Given the description of an element on the screen output the (x, y) to click on. 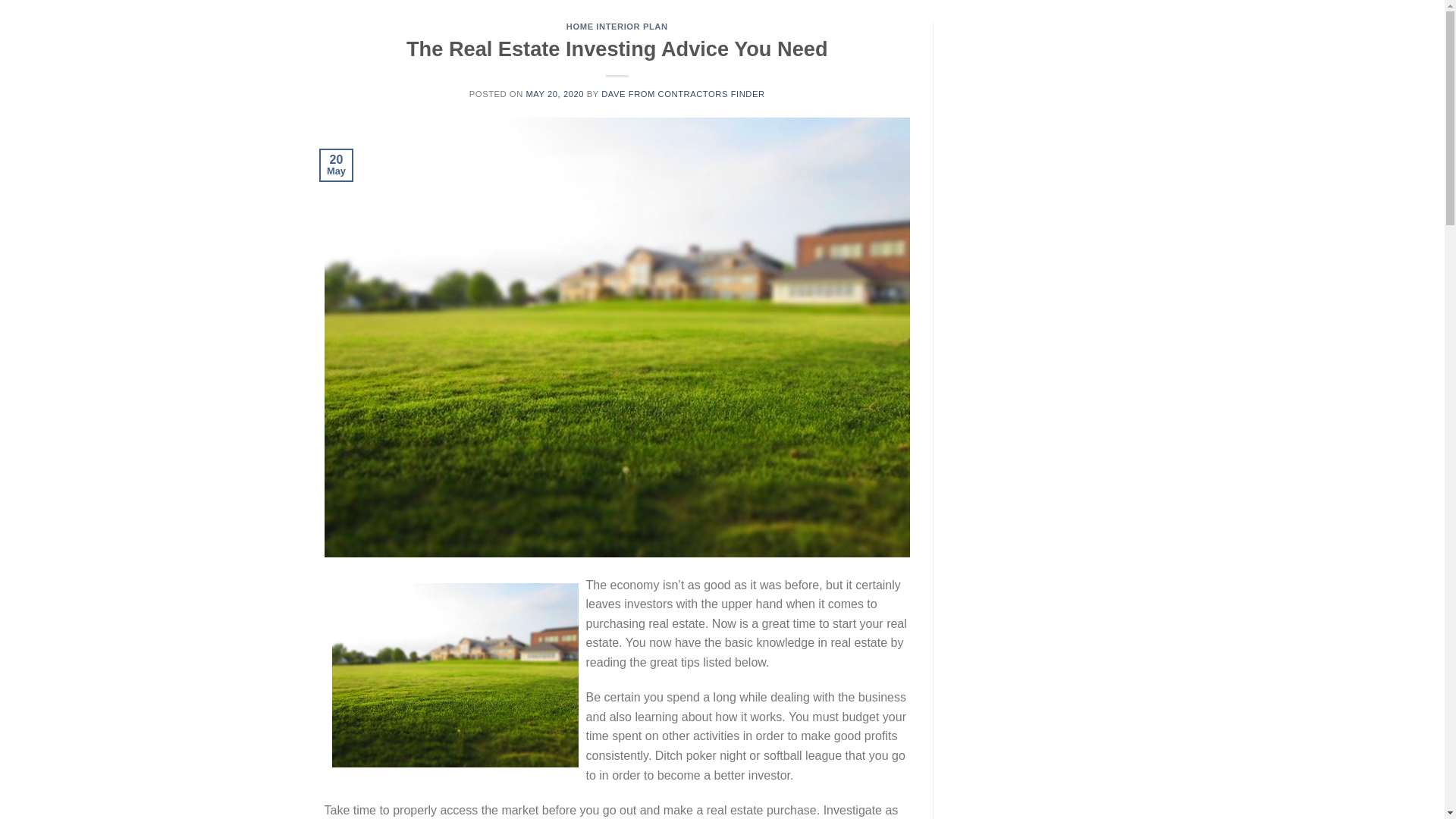
MAY 20, 2020 (554, 93)
HOME INTERIOR PLAN (617, 26)
DAVE FROM CONTRACTORS FINDER (682, 93)
